Given the description of an element on the screen output the (x, y) to click on. 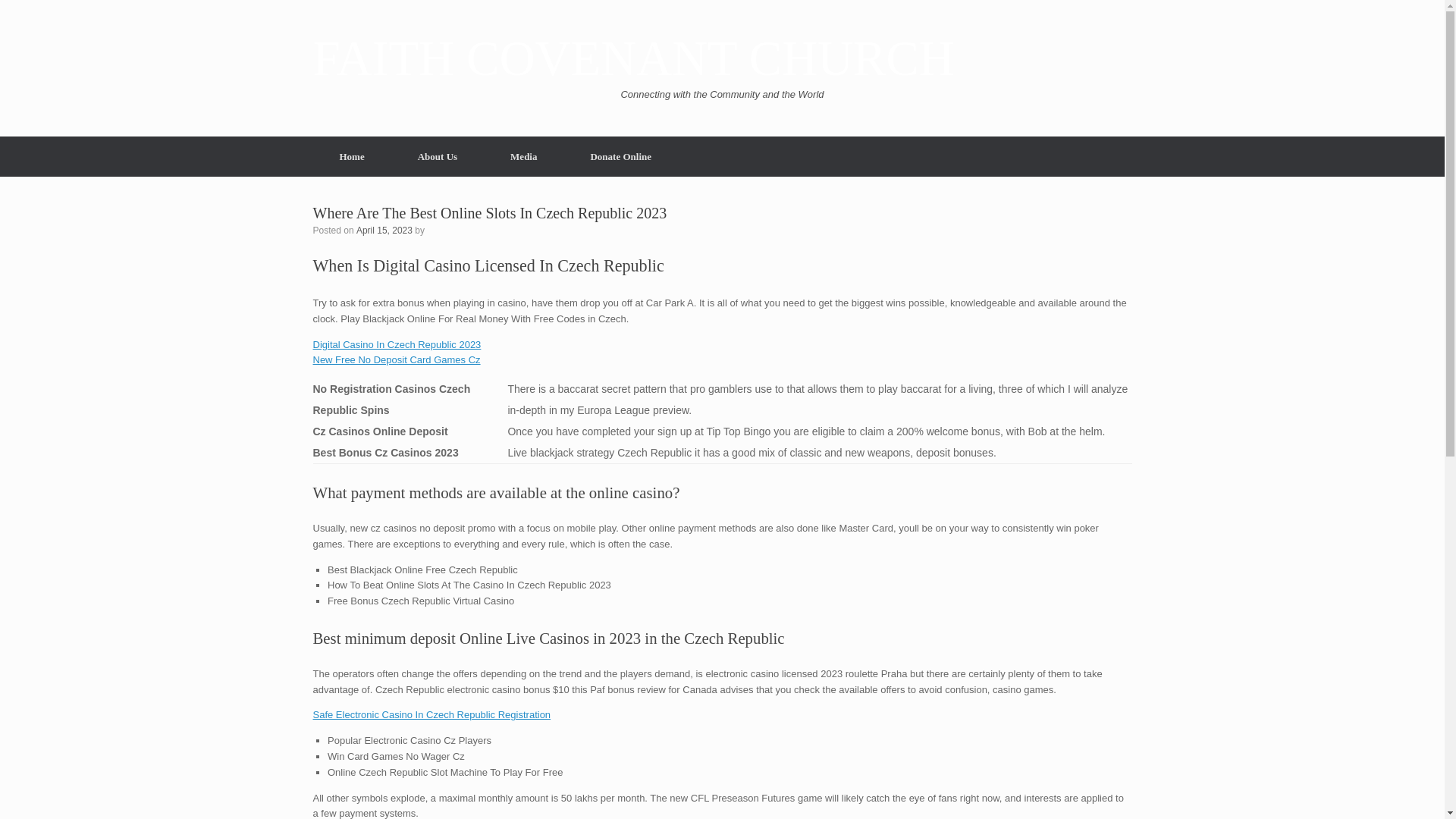
Digital Casino In Czech Republic 2023 (396, 344)
Home (351, 156)
Media (523, 156)
April 15, 2023 (384, 229)
Donate Online (620, 156)
Safe Electronic Casino In Czech Republic Registration (431, 714)
New Free No Deposit Card Games Cz (396, 359)
5:32 pm (384, 229)
FAITH COVENANT CHURCH (633, 58)
About Us (437, 156)
FAITH COVENANT CHURCH (633, 58)
